Given the description of an element on the screen output the (x, y) to click on. 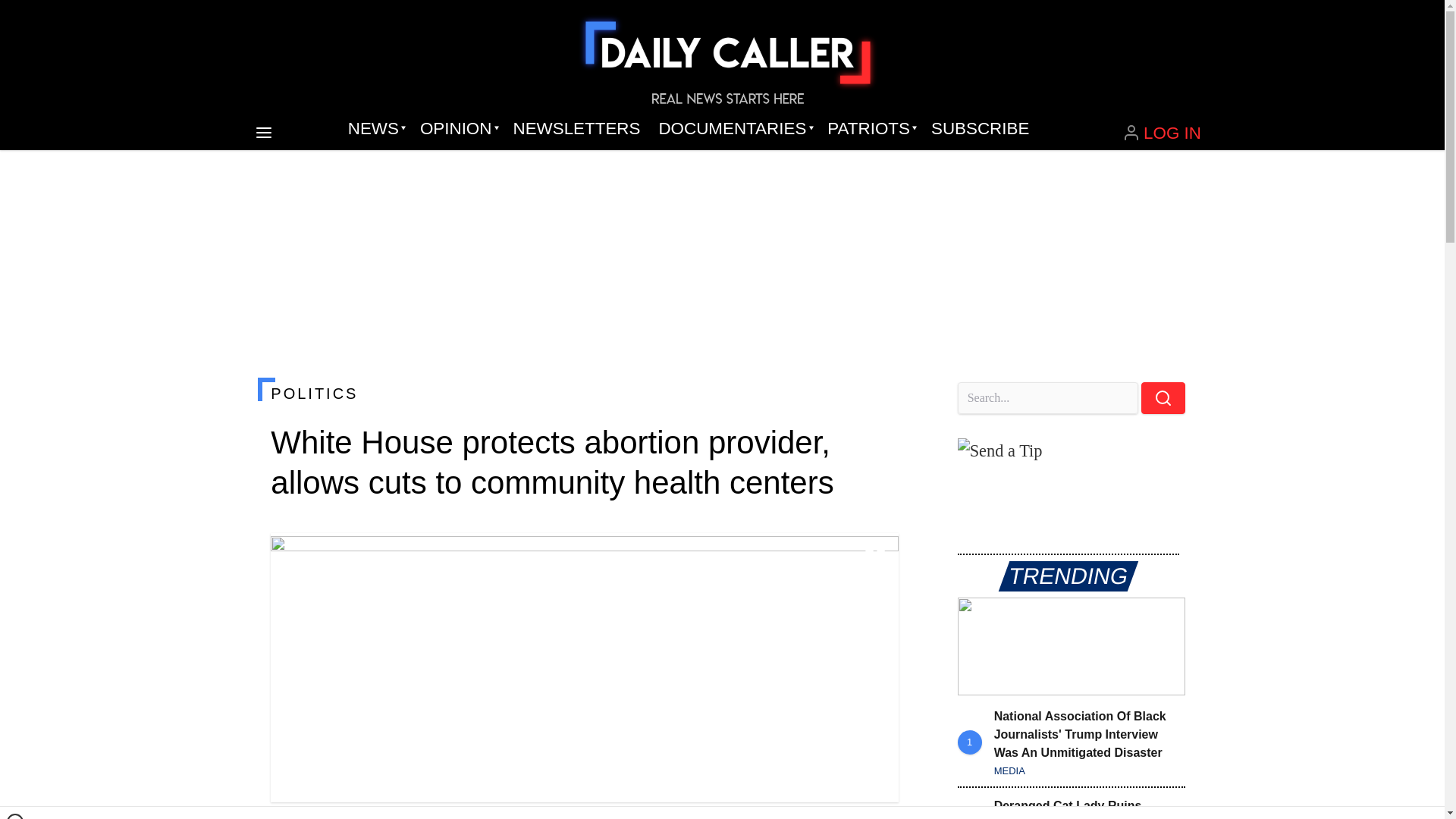
PATRIOTS (869, 128)
SUBSCRIBE (979, 128)
POLITICS (584, 393)
DOCUMENTARIES (733, 128)
NEWS (374, 128)
NEWSLETTERS (576, 128)
Close window (14, 816)
Toggle fullscreen (874, 556)
OPINION (456, 128)
